Given the description of an element on the screen output the (x, y) to click on. 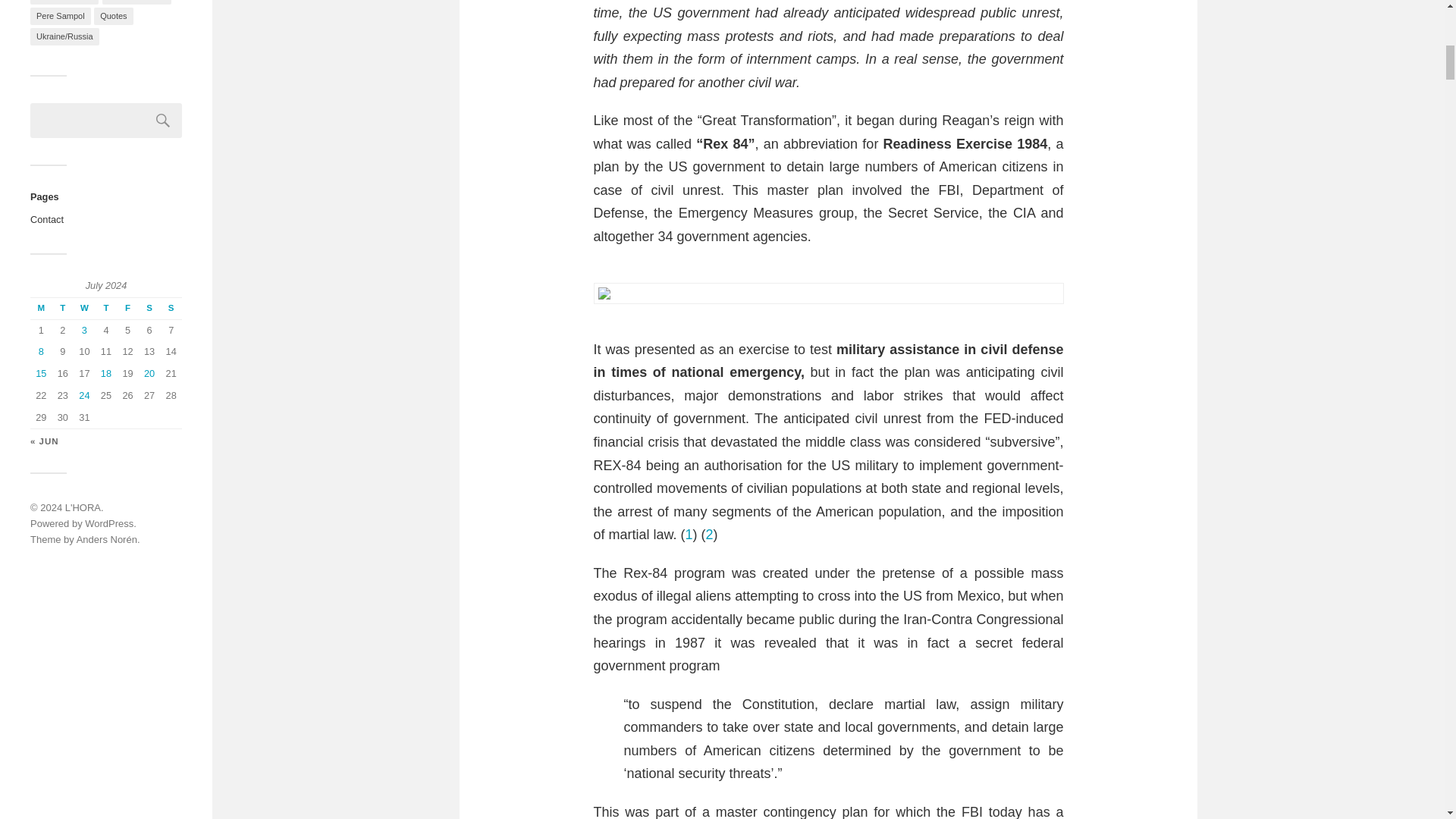
Tuesday (63, 308)
Monday (41, 308)
Search (163, 120)
Sunday (171, 308)
Wednesday (85, 308)
Thursday (106, 308)
Saturday (149, 308)
Friday (127, 308)
